Given the description of an element on the screen output the (x, y) to click on. 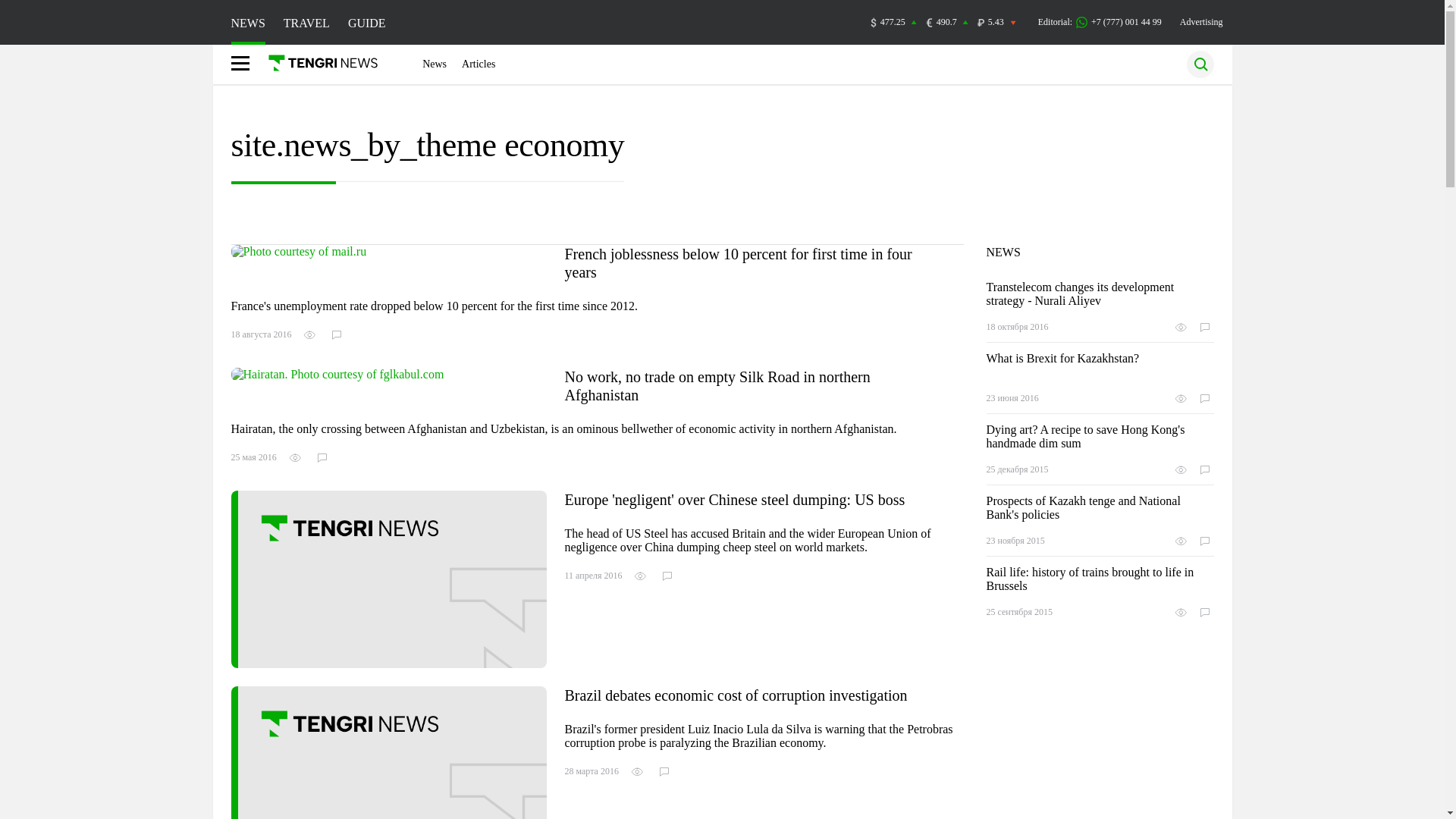
News (434, 64)
TRAVEL (306, 22)
Advertising (1201, 21)
Articles (478, 64)
